Given the description of an element on the screen output the (x, y) to click on. 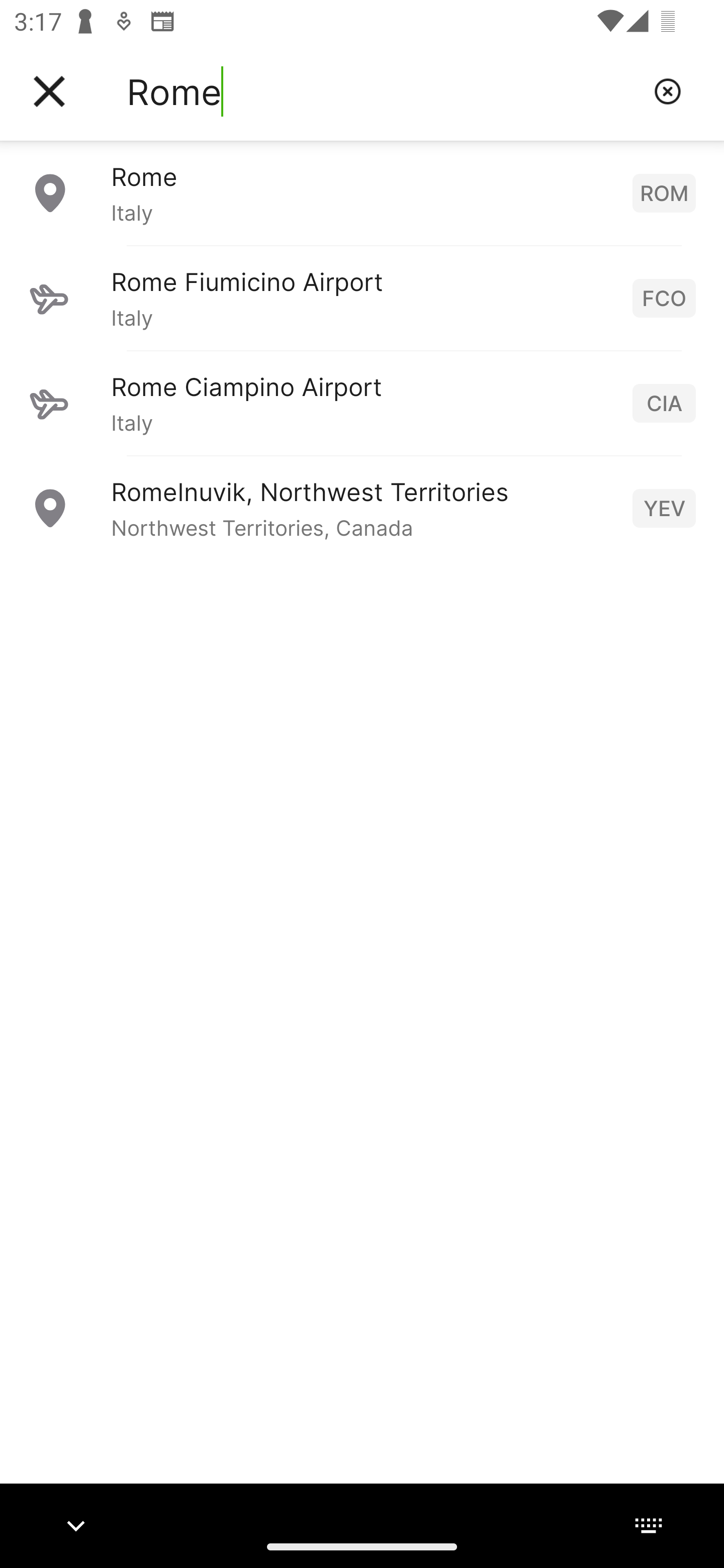
Rome (382, 91)
Rome Italy ROM (362, 192)
Rome Fiumicino Airport Italy FCO (362, 297)
Rome Ciampino Airport Italy CIA (362, 402)
